Given the description of an element on the screen output the (x, y) to click on. 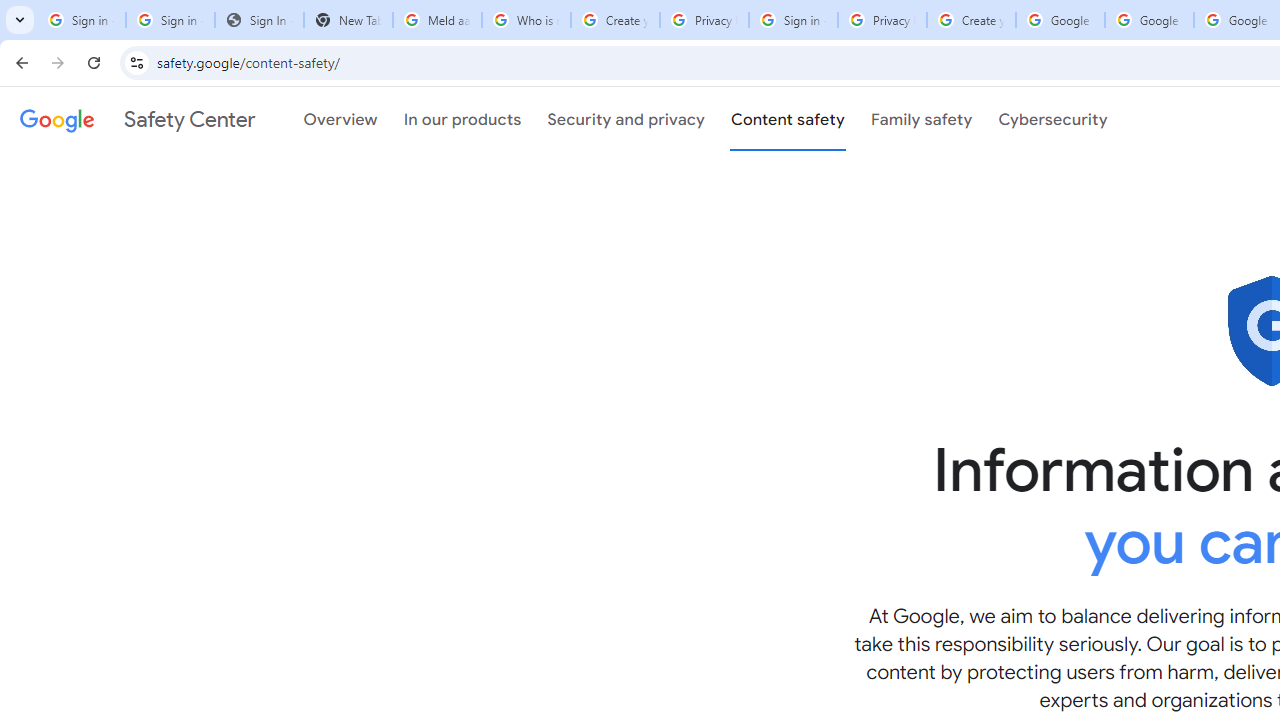
Create your Google Account (971, 20)
Cybersecurity (1053, 119)
Create your Google Account (615, 20)
Sign in - Google Accounts (81, 20)
Safety Center (137, 119)
Sign in - Google Accounts (793, 20)
Content safety (787, 119)
Security and privacy (626, 119)
New Tab (347, 20)
